Given the description of an element on the screen output the (x, y) to click on. 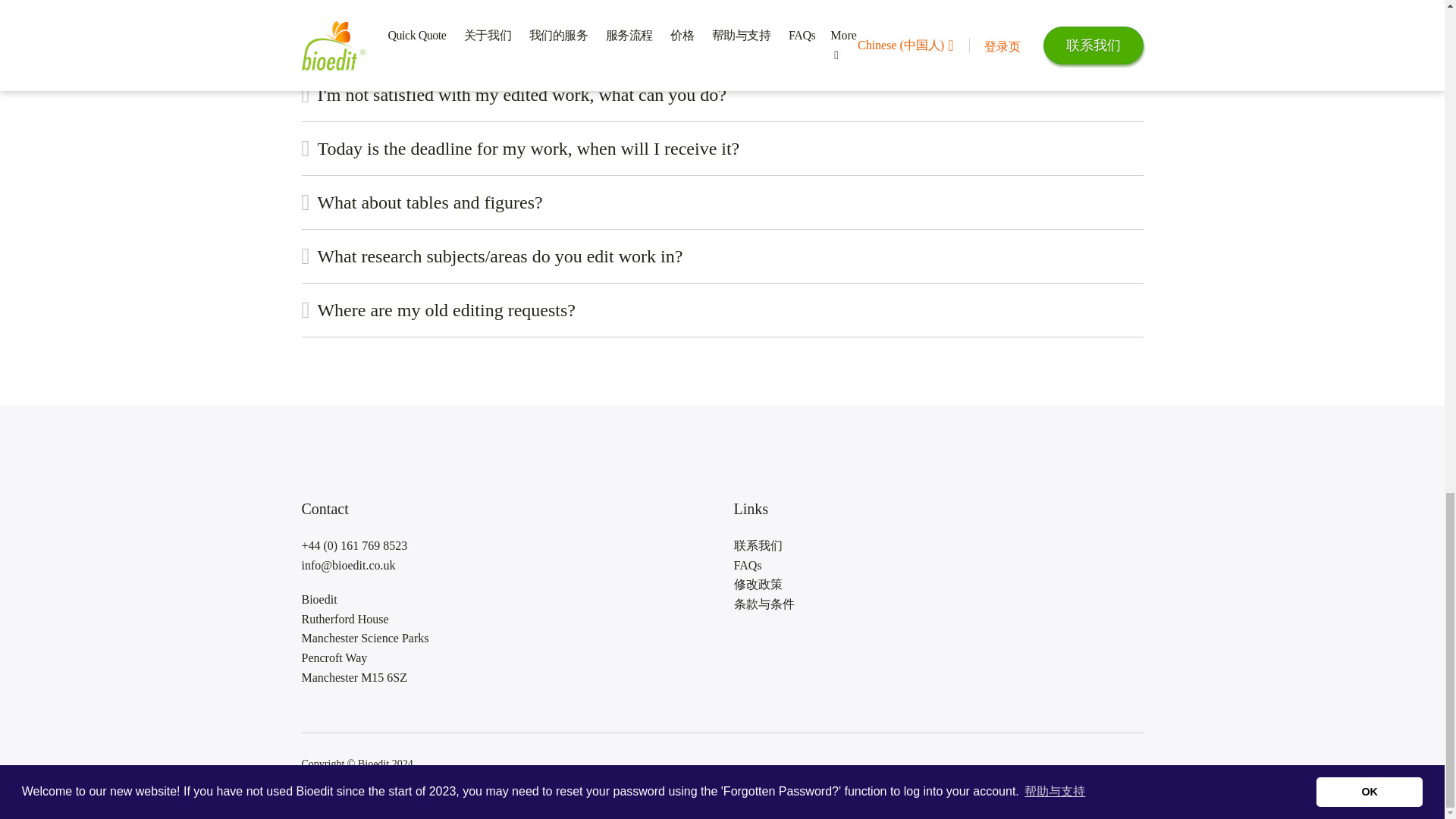
FAQs (937, 565)
